Given the description of an element on the screen output the (x, y) to click on. 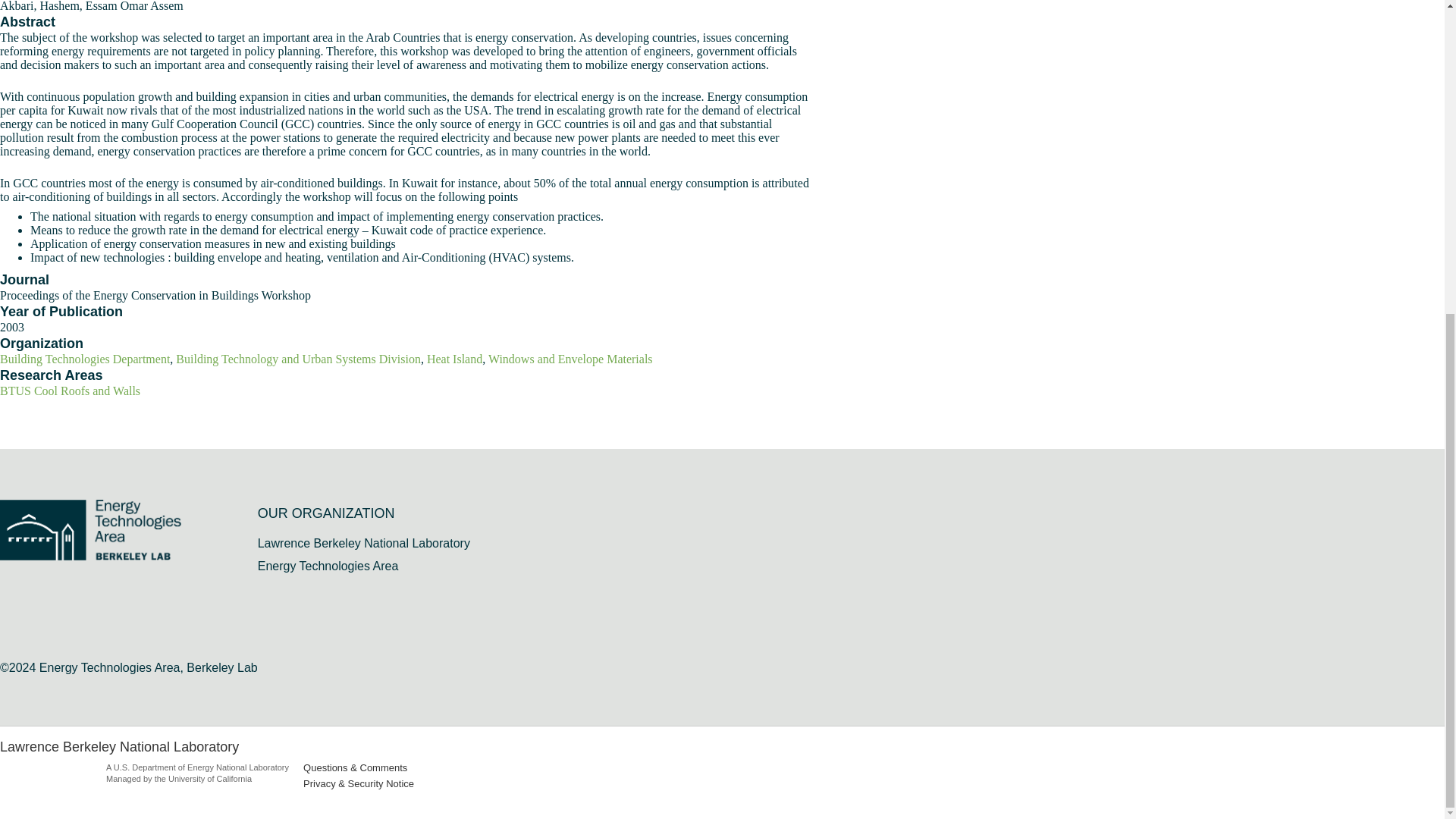
Essam Omar Assem (134, 6)
Akbari, Hashem (40, 6)
Building Technologies Department (85, 358)
